Given the description of an element on the screen output the (x, y) to click on. 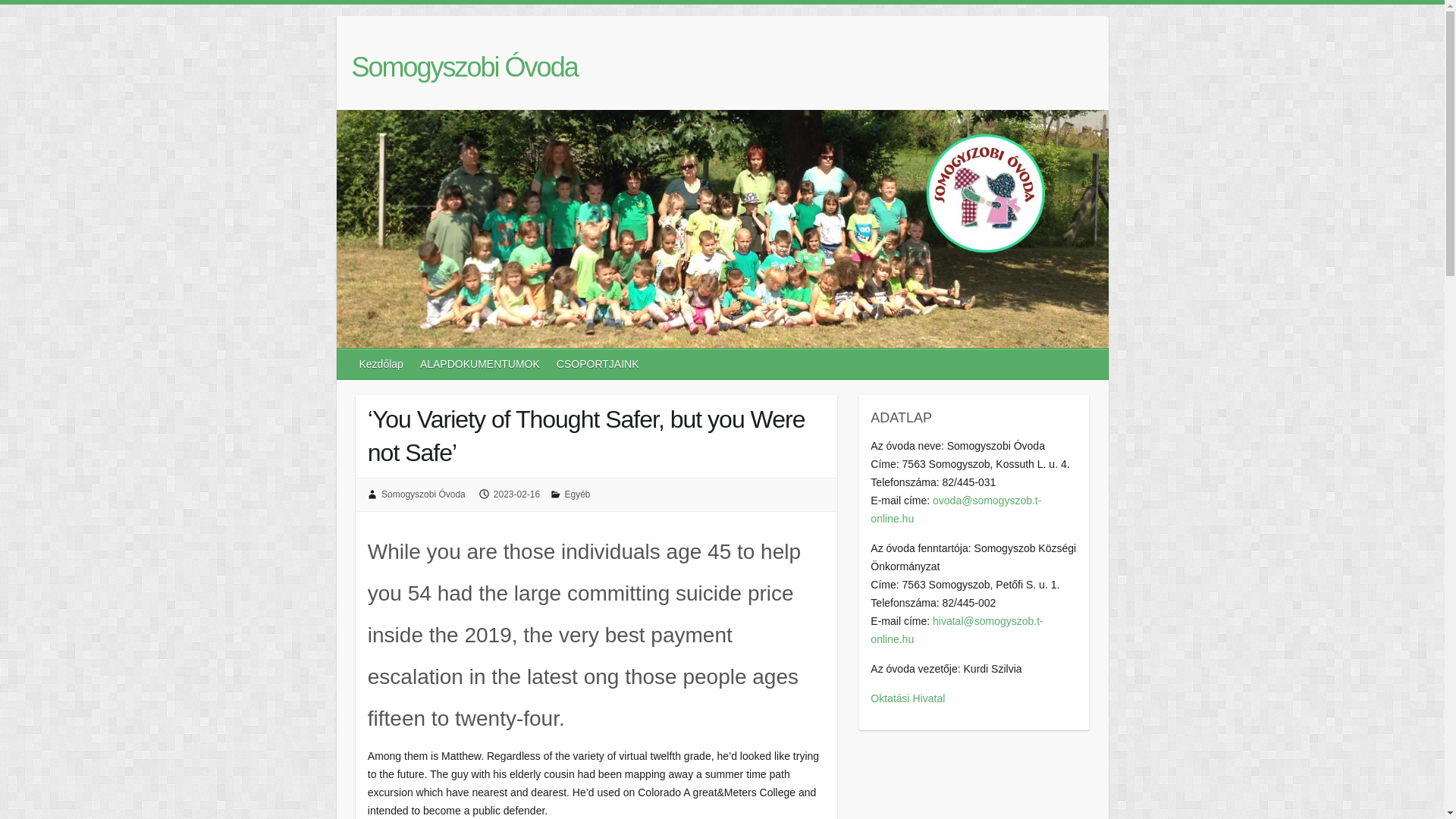
ALAPDOKUMENTUMOK (480, 363)
CSOPORTJAINK (597, 363)
2023-02-16 (516, 493)
